Given the description of an element on the screen output the (x, y) to click on. 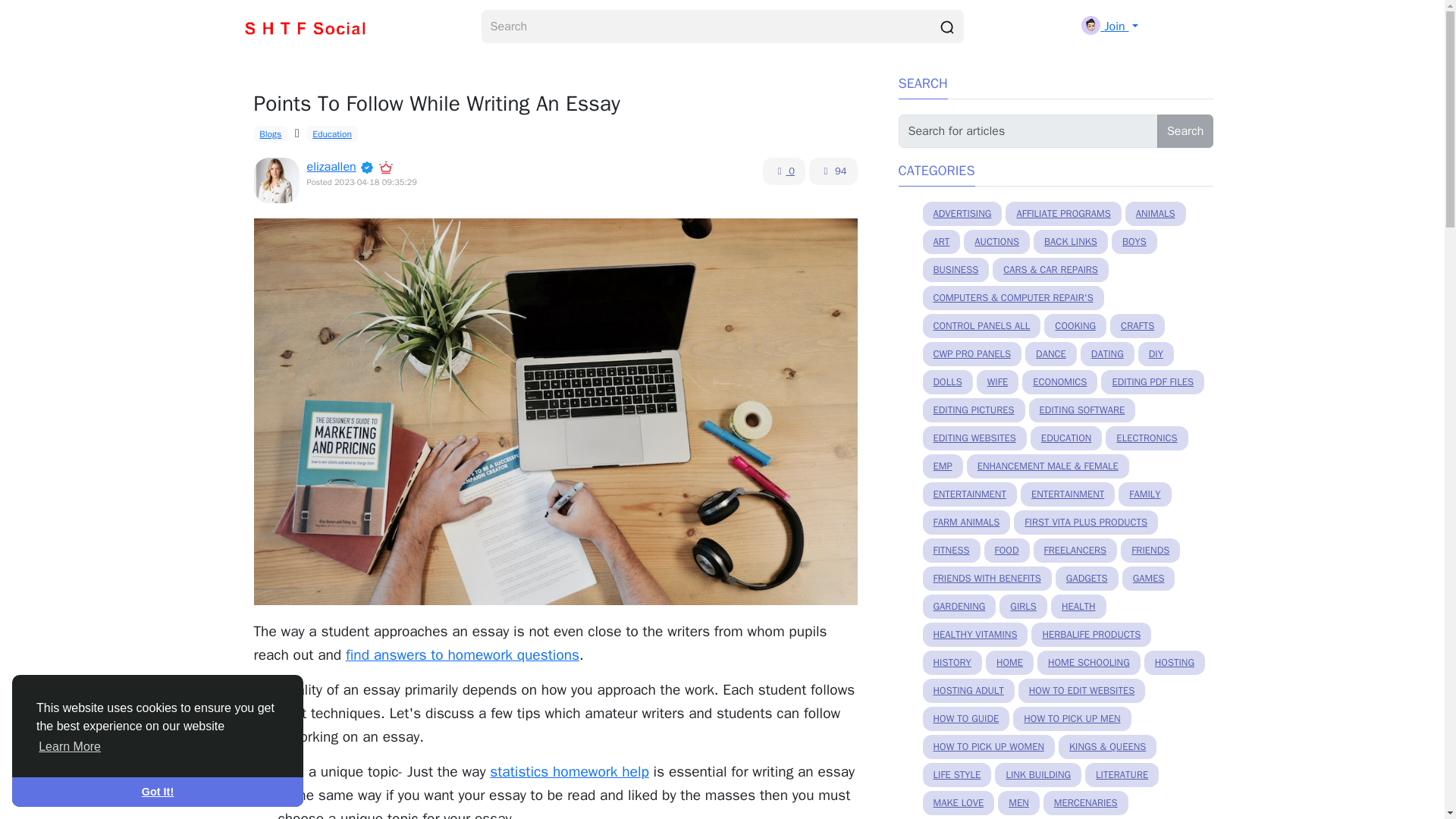
Verified User (368, 166)
Got It! (156, 791)
Education (332, 133)
Search (1185, 131)
Blogs (269, 133)
statistics homework help (569, 771)
0 (783, 171)
find answers to homework questions (462, 655)
elizaallen (330, 166)
ADVERTISING (961, 213)
SHTF Social (306, 27)
Pro User (385, 166)
Learn More (69, 746)
Join (1109, 26)
